Given the description of an element on the screen output the (x, y) to click on. 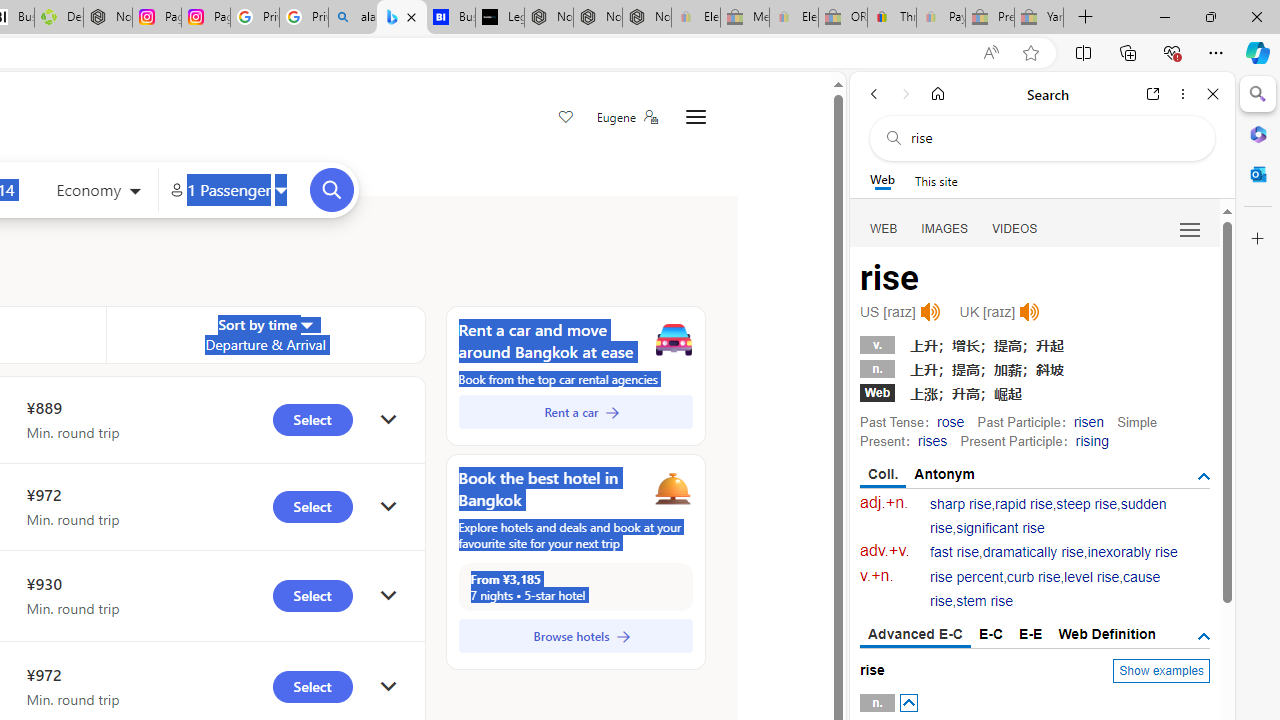
Search the web (1051, 137)
AutomationID: tgdef (1203, 636)
